Given the description of an element on the screen output the (x, y) to click on. 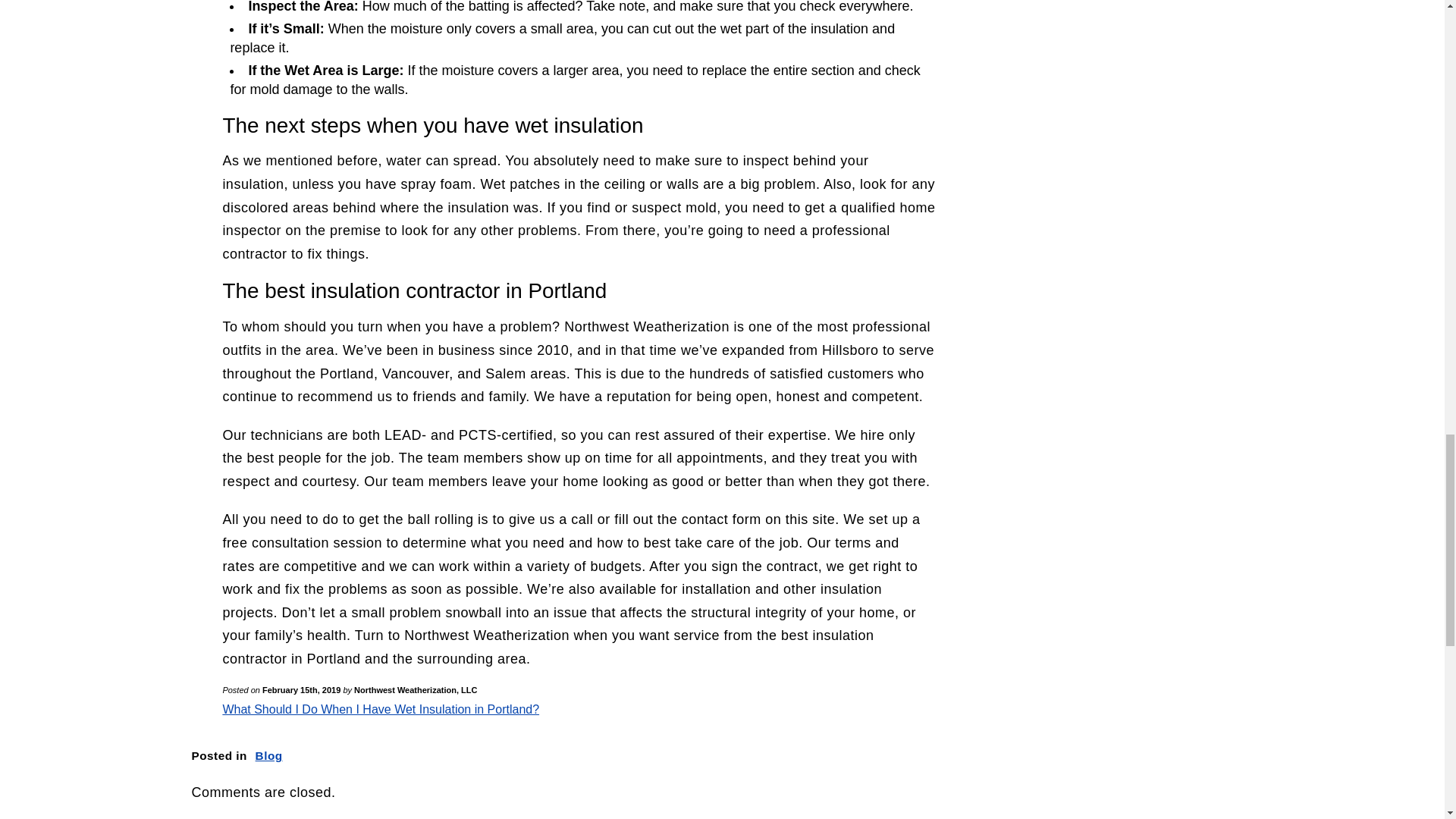
Blog (269, 755)
What Should I Do When I Have Wet Insulation in Portland? (380, 708)
